Given the description of an element on the screen output the (x, y) to click on. 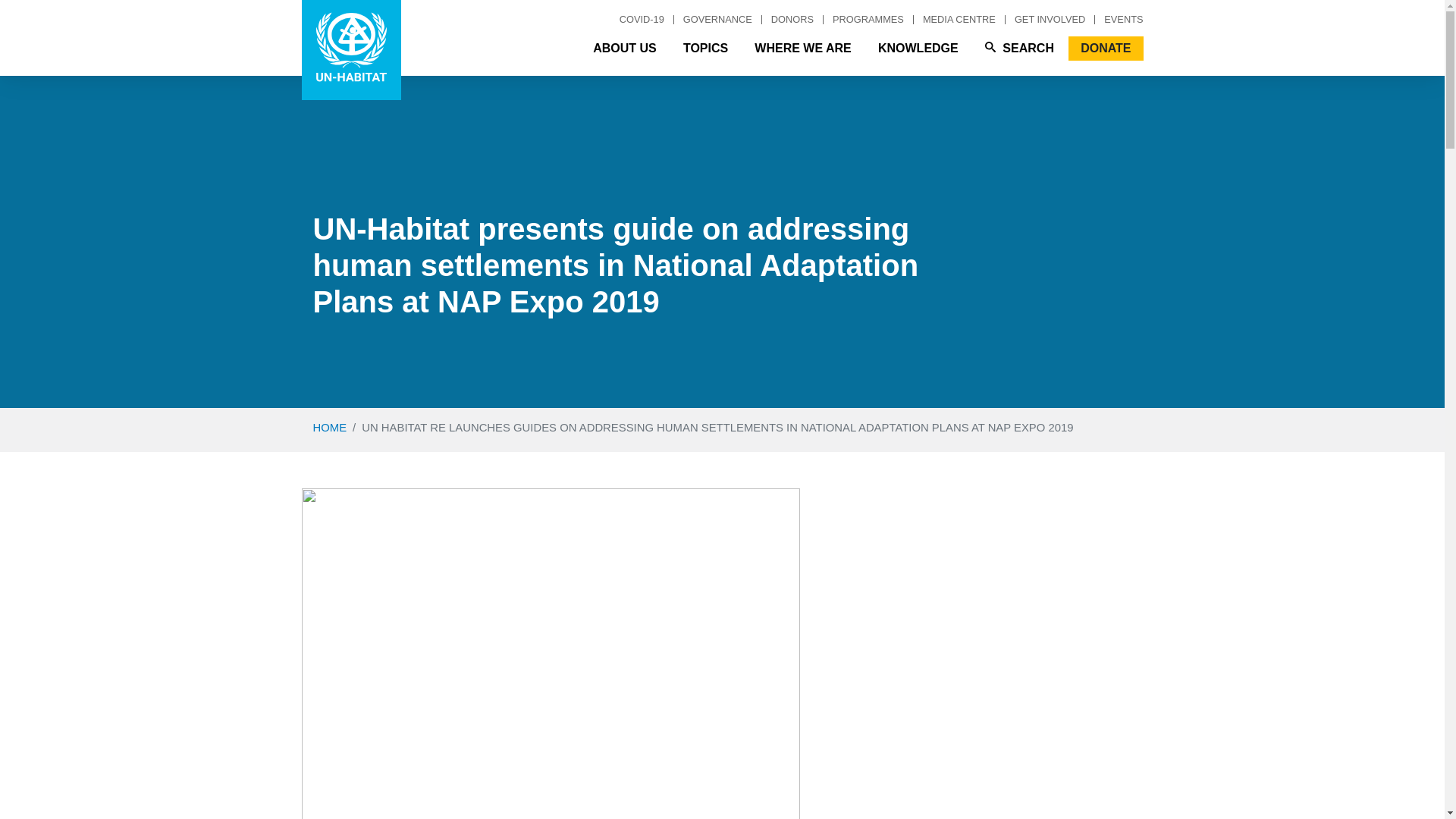
EVENTS (1118, 19)
TOPICS (705, 48)
ABOUT US (624, 48)
Skip to main content (721, 213)
GET INVOLVED (1050, 19)
MEDIA CENTRE (960, 19)
COVID-19 (642, 19)
GOVERNANCE (717, 19)
PROGRAMMES (869, 19)
Home (351, 49)
